Given the description of an element on the screen output the (x, y) to click on. 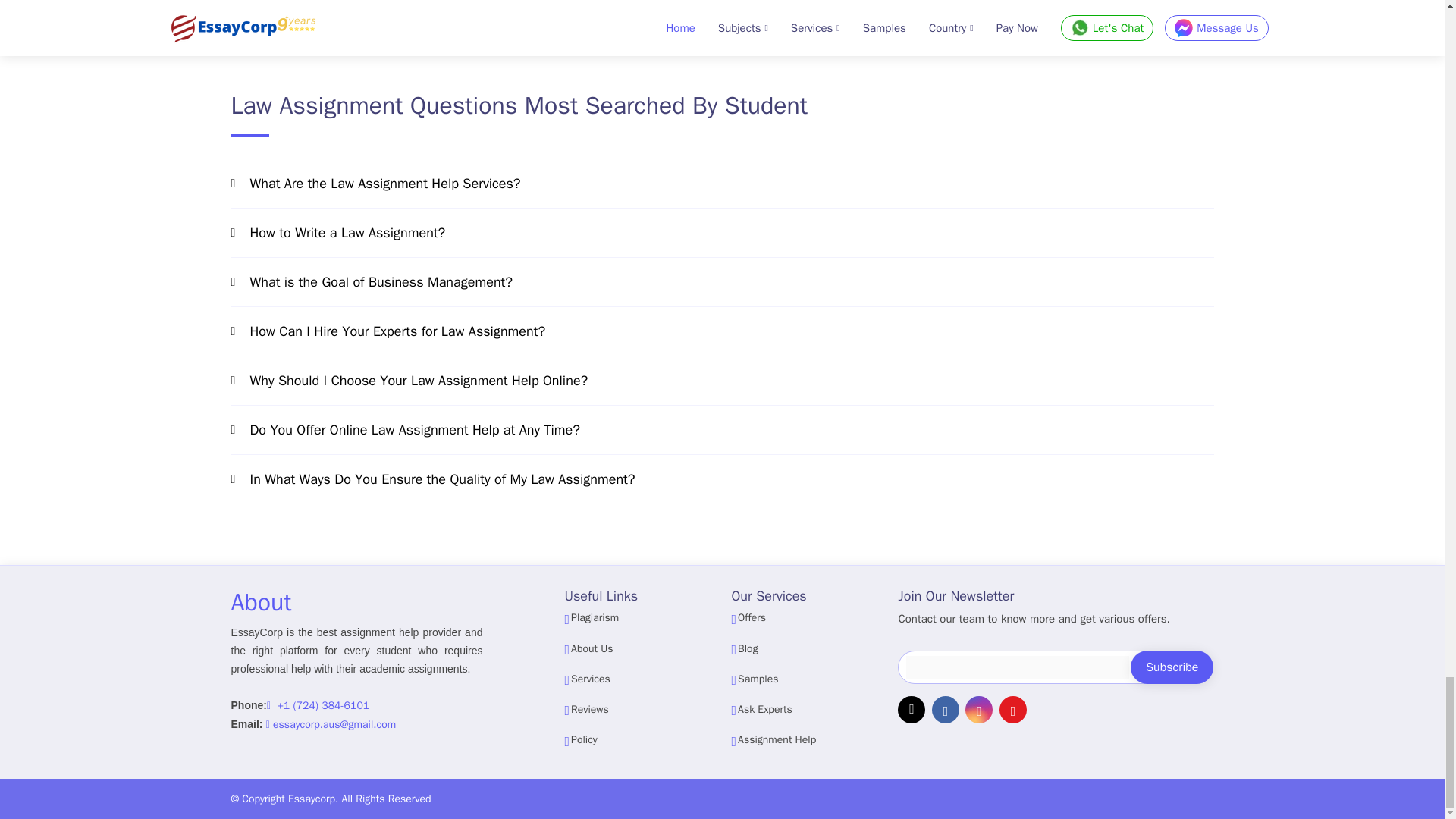
Subscribe (1171, 667)
